Given the description of an element on the screen output the (x, y) to click on. 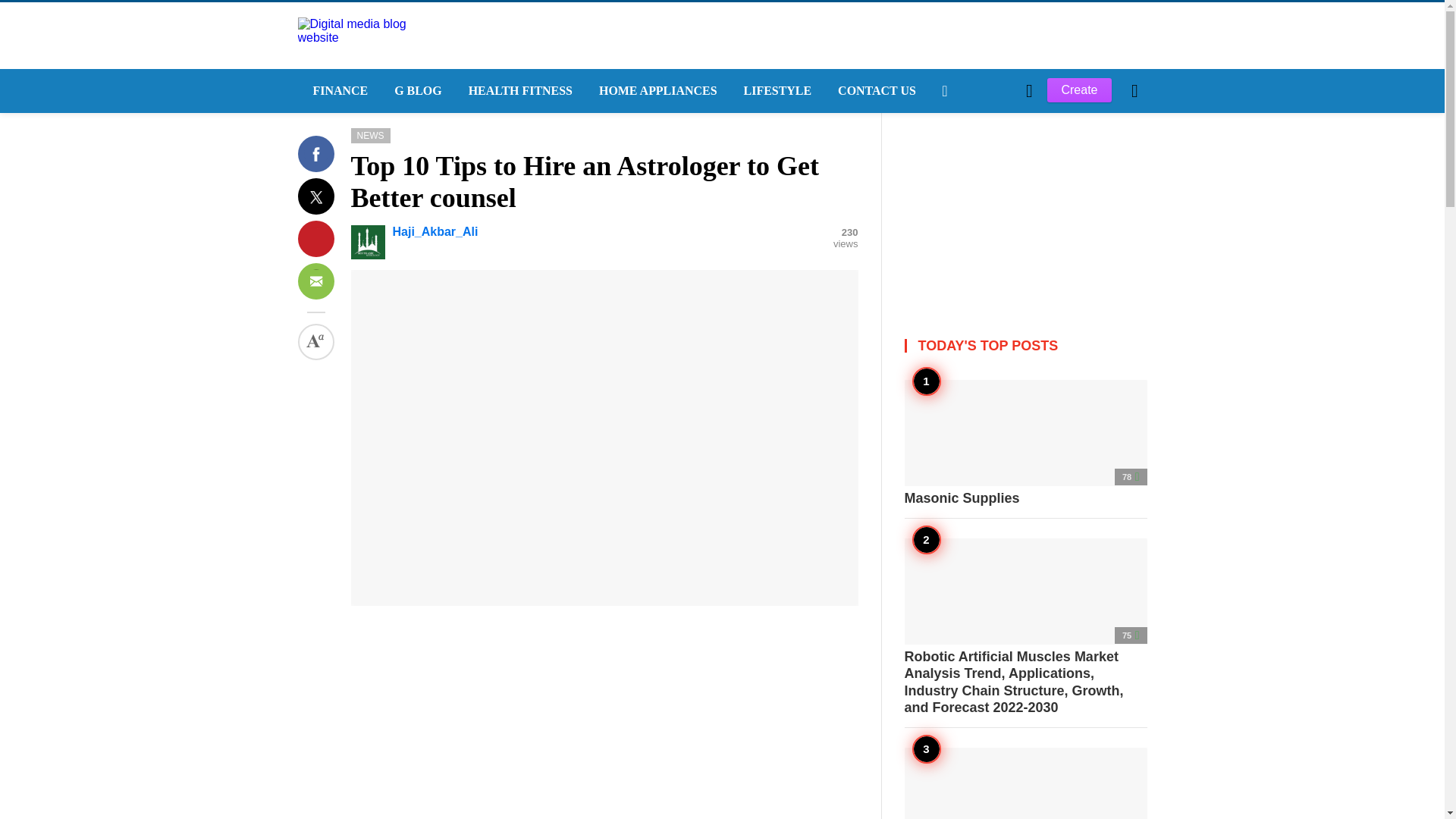
FINANCE (337, 90)
CONTACT US (874, 90)
Masonic Supplies (1025, 443)
Log in (962, 347)
HOME APPLIANCES (656, 90)
sign up (964, 347)
HEALTH FITNESS (517, 90)
LIFESTYLE (776, 90)
